Given the description of an element on the screen output the (x, y) to click on. 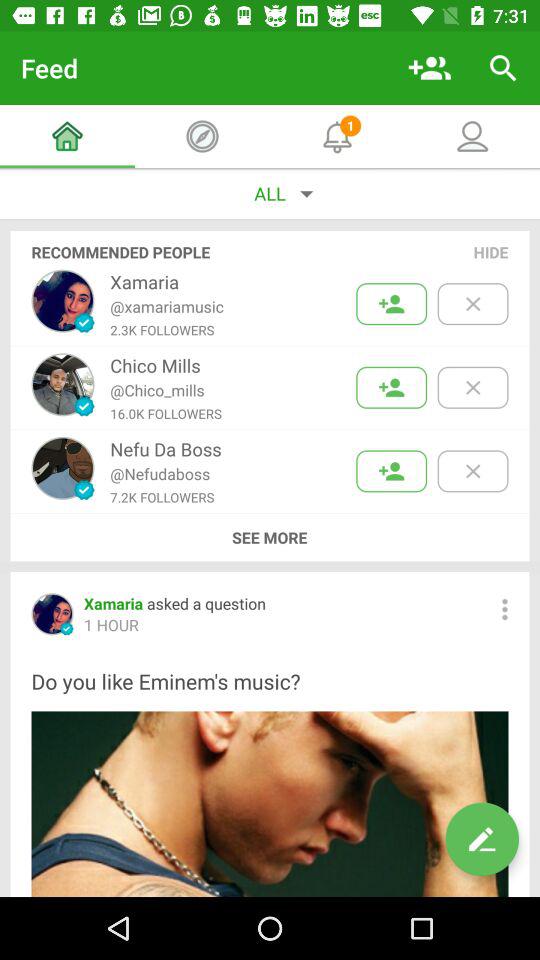
hide this particular name and picture (472, 387)
